Given the description of an element on the screen output the (x, y) to click on. 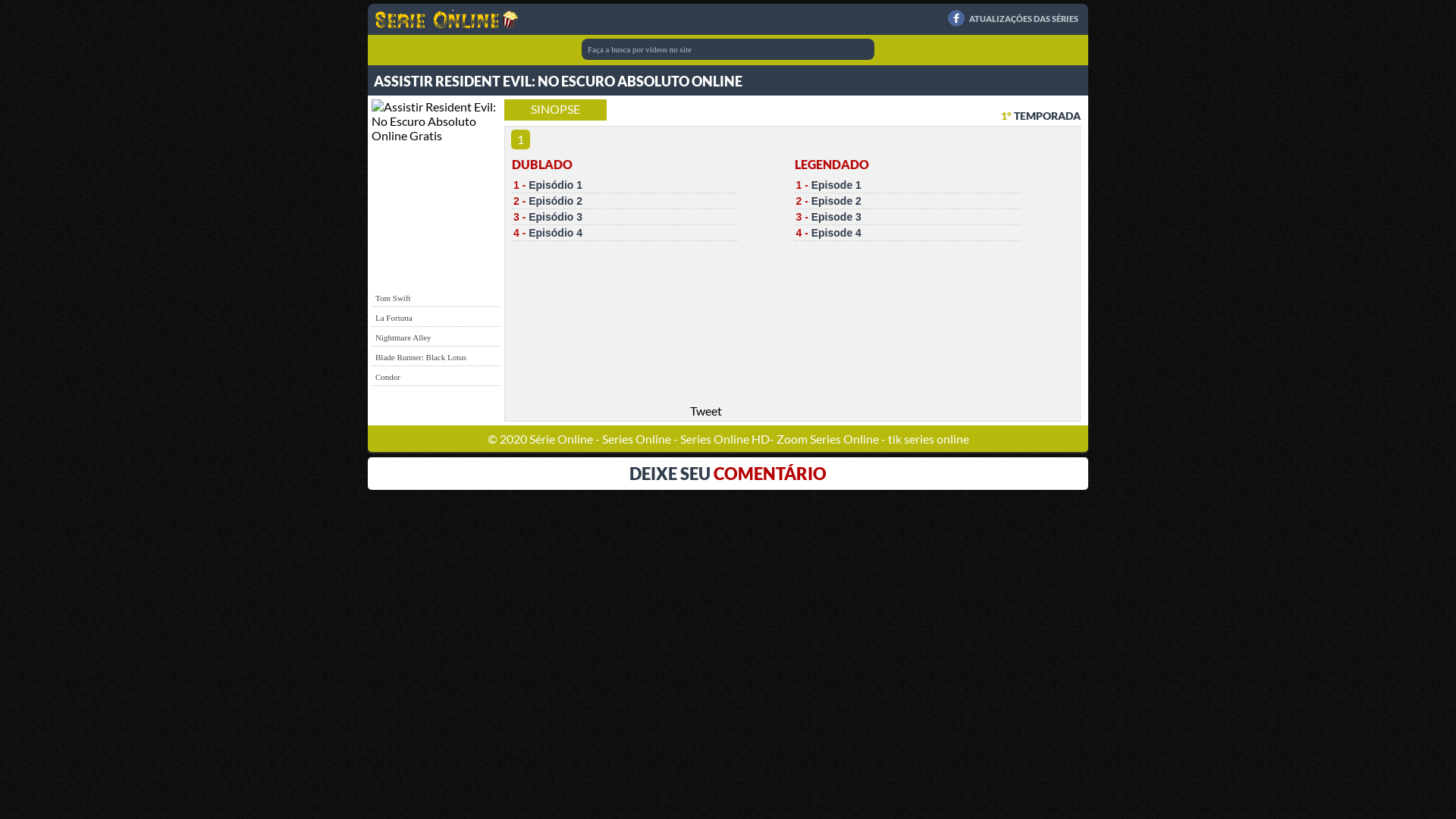
Condor Element type: text (387, 376)
Series Online HD Element type: text (723, 438)
Tweet Element type: text (705, 410)
Zoom Series Online Element type: text (828, 438)
La Fortuna Element type: text (393, 317)
Nightmare Alley Element type: text (403, 337)
Tom Swift Element type: text (393, 297)
Episode 3 Element type: text (836, 216)
NOSSA PAGINA OFICIAL - FACEBOOK Element type: text (956, 17)
Episode 2 Element type: text (836, 200)
Series Online Element type: text (637, 438)
Episode 1 Element type: text (836, 184)
Episode 4 Element type: text (836, 232)
Blade Runner: Black Lotus Element type: text (420, 356)
tik series online Element type: text (927, 438)
